Given the description of an element on the screen output the (x, y) to click on. 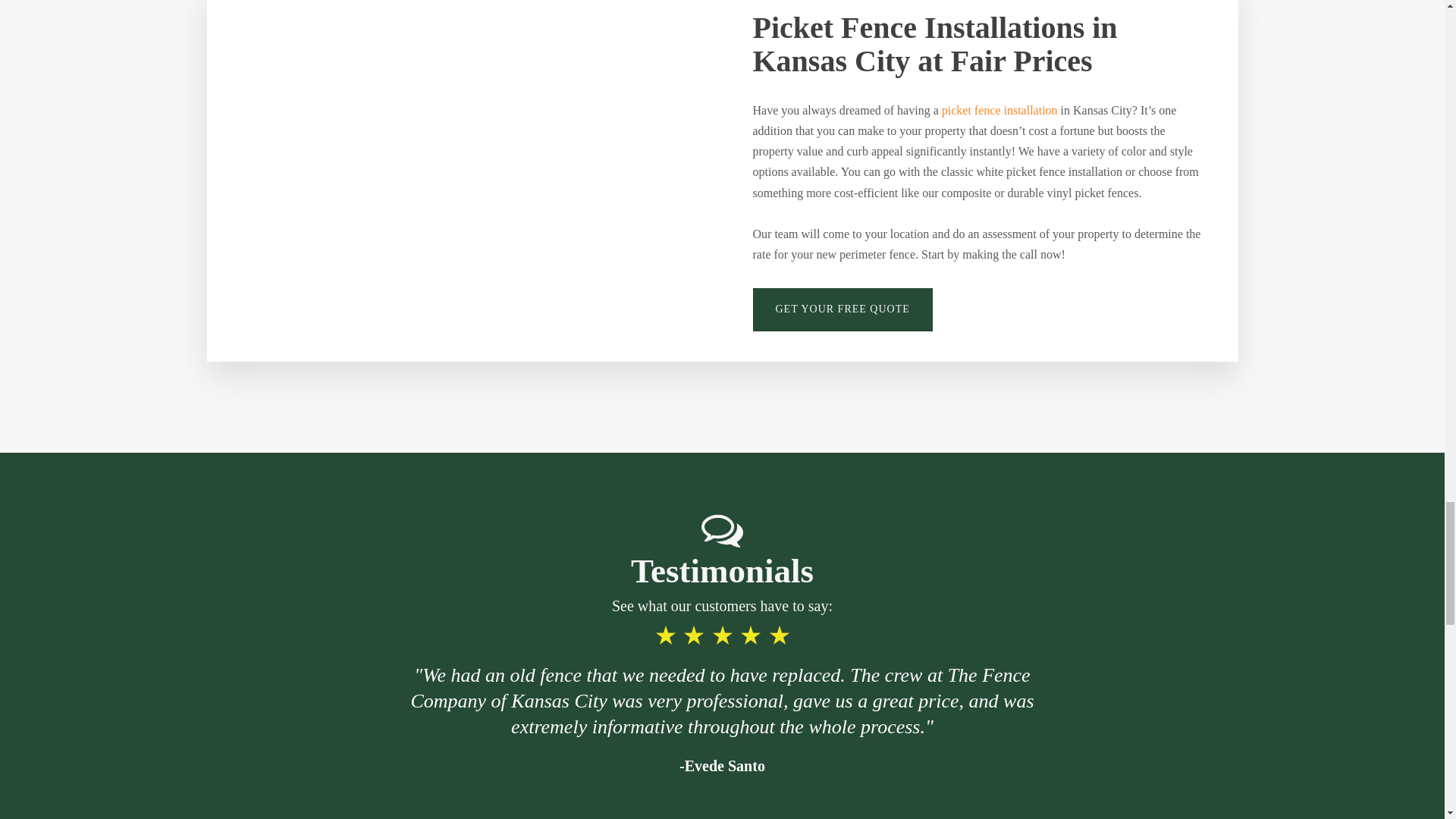
GET YOUR FREE QUOTE (841, 309)
picket fence installation (1000, 109)
